Given the description of an element on the screen output the (x, y) to click on. 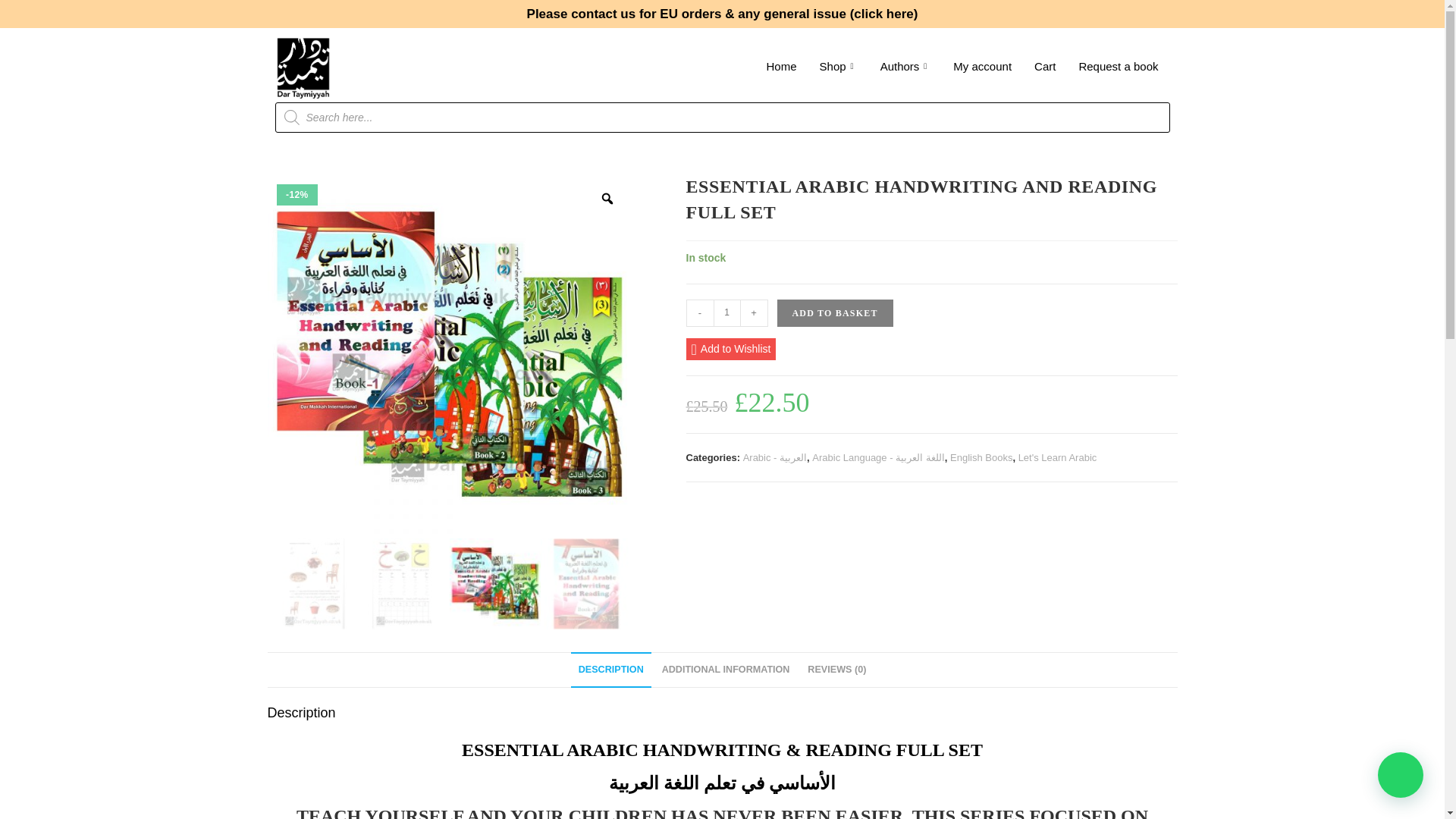
English Books (980, 457)
My account (982, 66)
Let's Learn Arabic (1057, 457)
9131 (1095, 24)
Authors (905, 66)
ADD TO BASKET (834, 312)
- (699, 312)
ADDITIONAL INFORMATION (725, 669)
1 (726, 312)
Shop (838, 66)
Add to Wishlist (730, 349)
Request a book (1118, 66)
DESCRIPTION (610, 669)
